Given the description of an element on the screen output the (x, y) to click on. 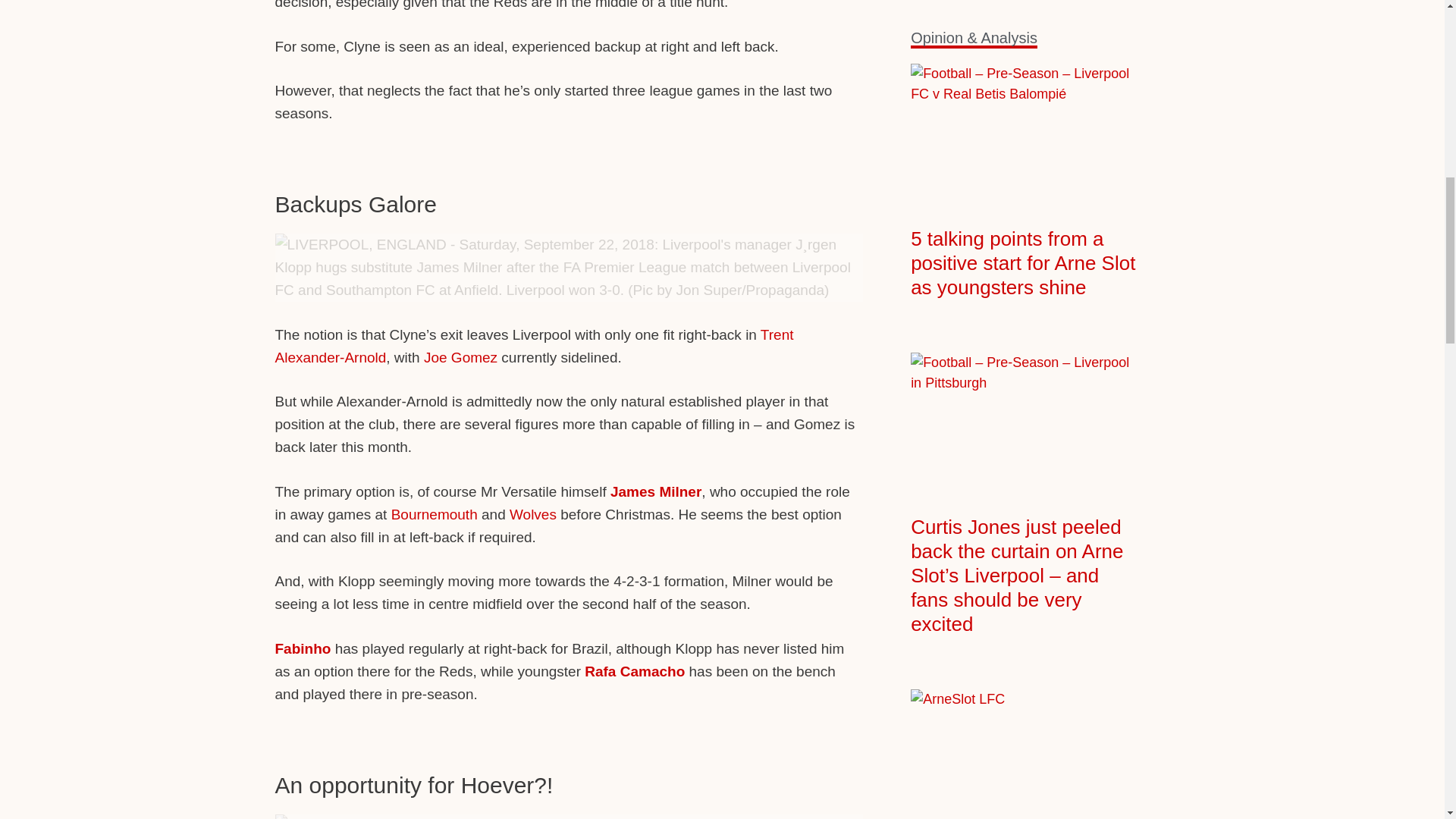
Wolves (532, 514)
Trent Alexander-Arnold (534, 345)
